Given the description of an element on the screen output the (x, y) to click on. 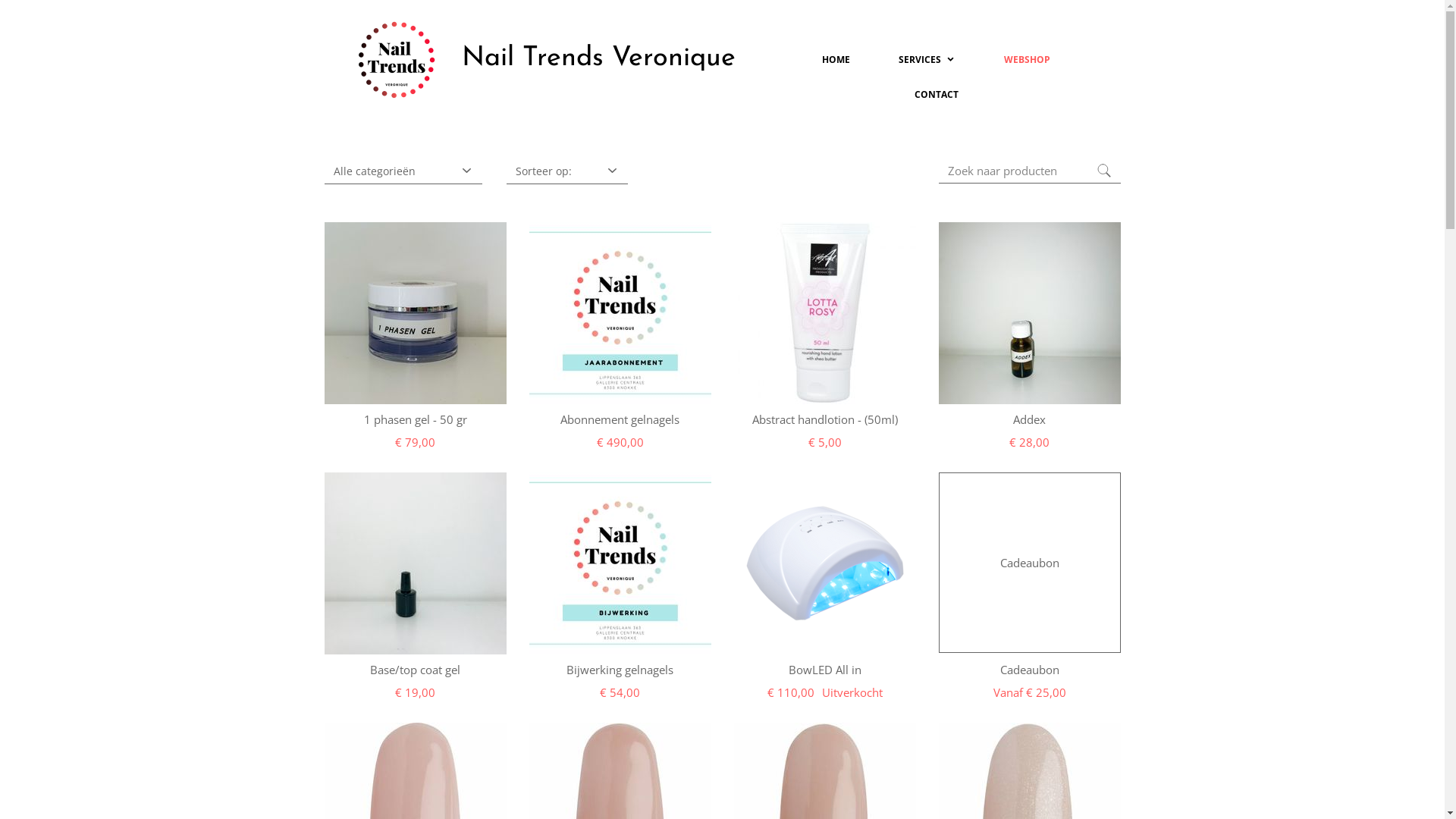
1 phasen gel - 50 gr Element type: text (415, 418)
HOME Element type: text (835, 59)
Base/top coat gel Element type: text (415, 669)
Sorteer op: Element type: text (566, 171)
Abonnement gelnagels Element type: text (619, 418)
Cadeaubon Element type: text (1028, 669)
WEBSHOP Element type: text (1026, 59)
SERVICES Element type: text (926, 59)
Abstract handlotion - (50ml) Element type: text (824, 418)
BowLED All in Element type: text (824, 669)
CONTACT Element type: text (936, 94)
Bijwerking gelnagels Element type: text (619, 669)
Cadeaubon Element type: text (1029, 563)
Addex Element type: text (1029, 418)
